Given the description of an element on the screen output the (x, y) to click on. 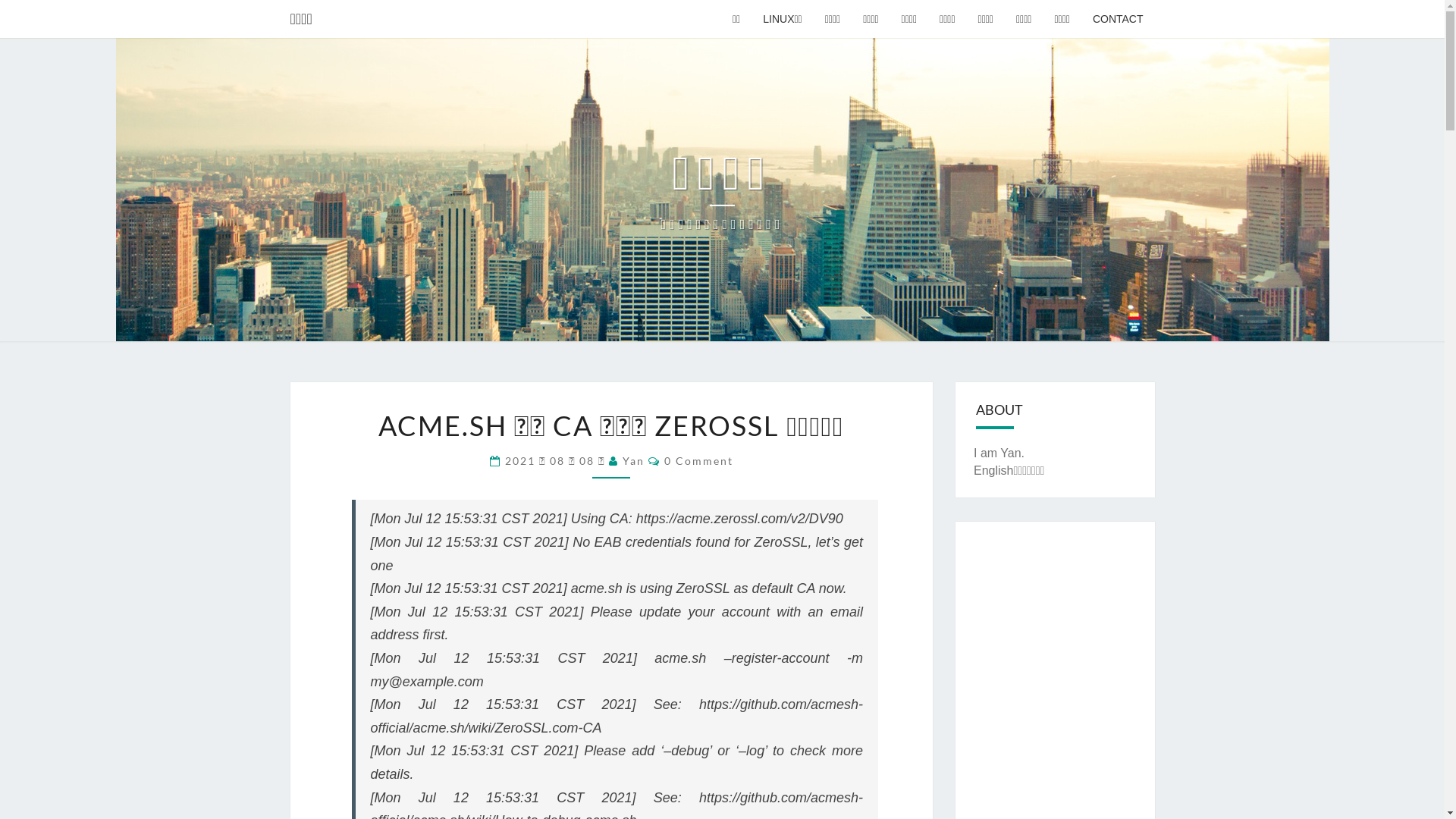
CONTACT Element type: text (1117, 18)
0 Comment Element type: text (698, 460)
Yan Element type: text (633, 460)
